Given the description of an element on the screen output the (x, y) to click on. 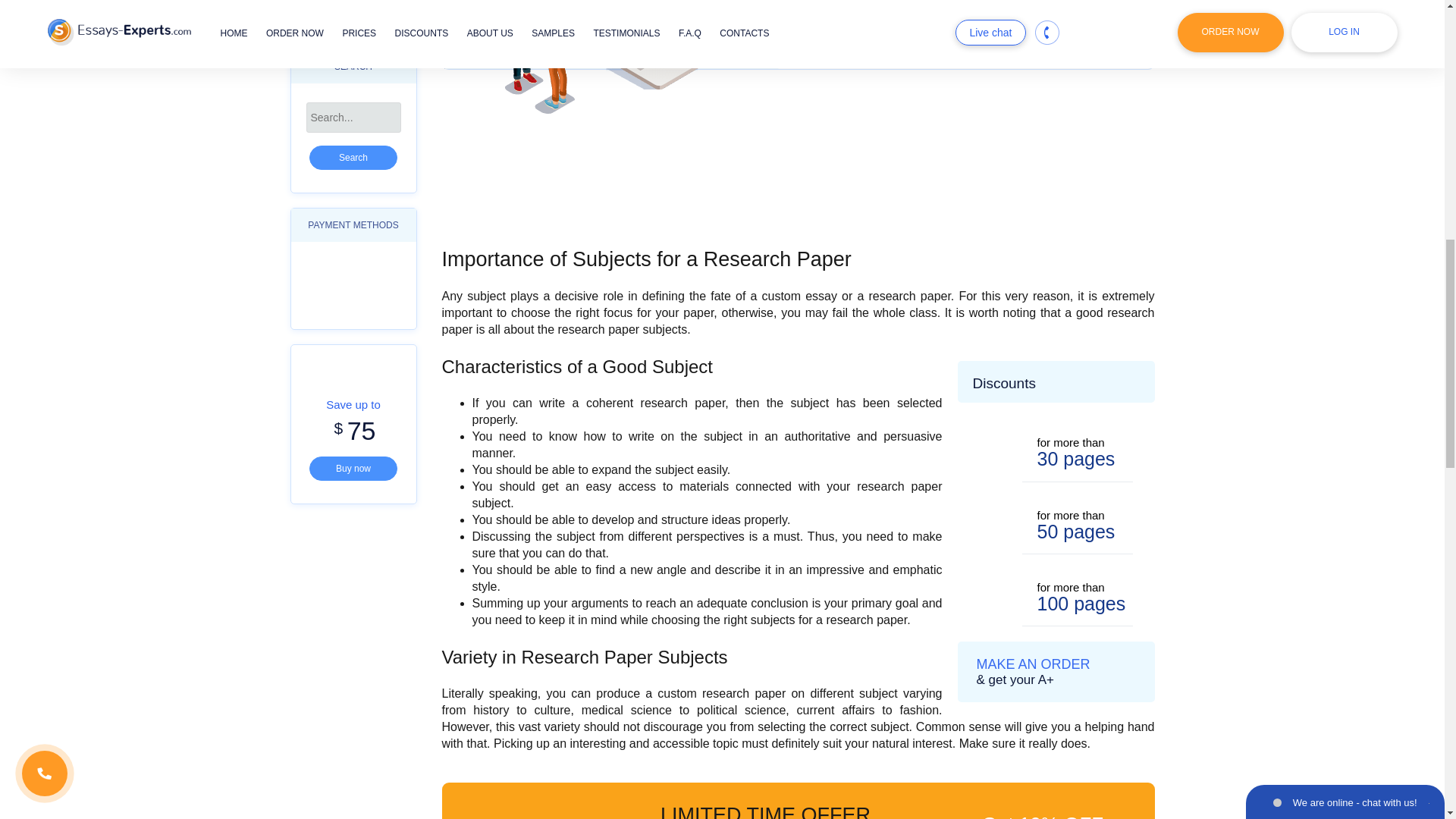
Apple pay (373, 303)
Search (352, 157)
Credit and debit cards by Visa (330, 272)
Credit and debit cards by MasterCard (373, 272)
Search (352, 157)
Buy now (352, 468)
Credit cards by American Express (330, 303)
Continue to order (966, 34)
